Given the description of an element on the screen output the (x, y) to click on. 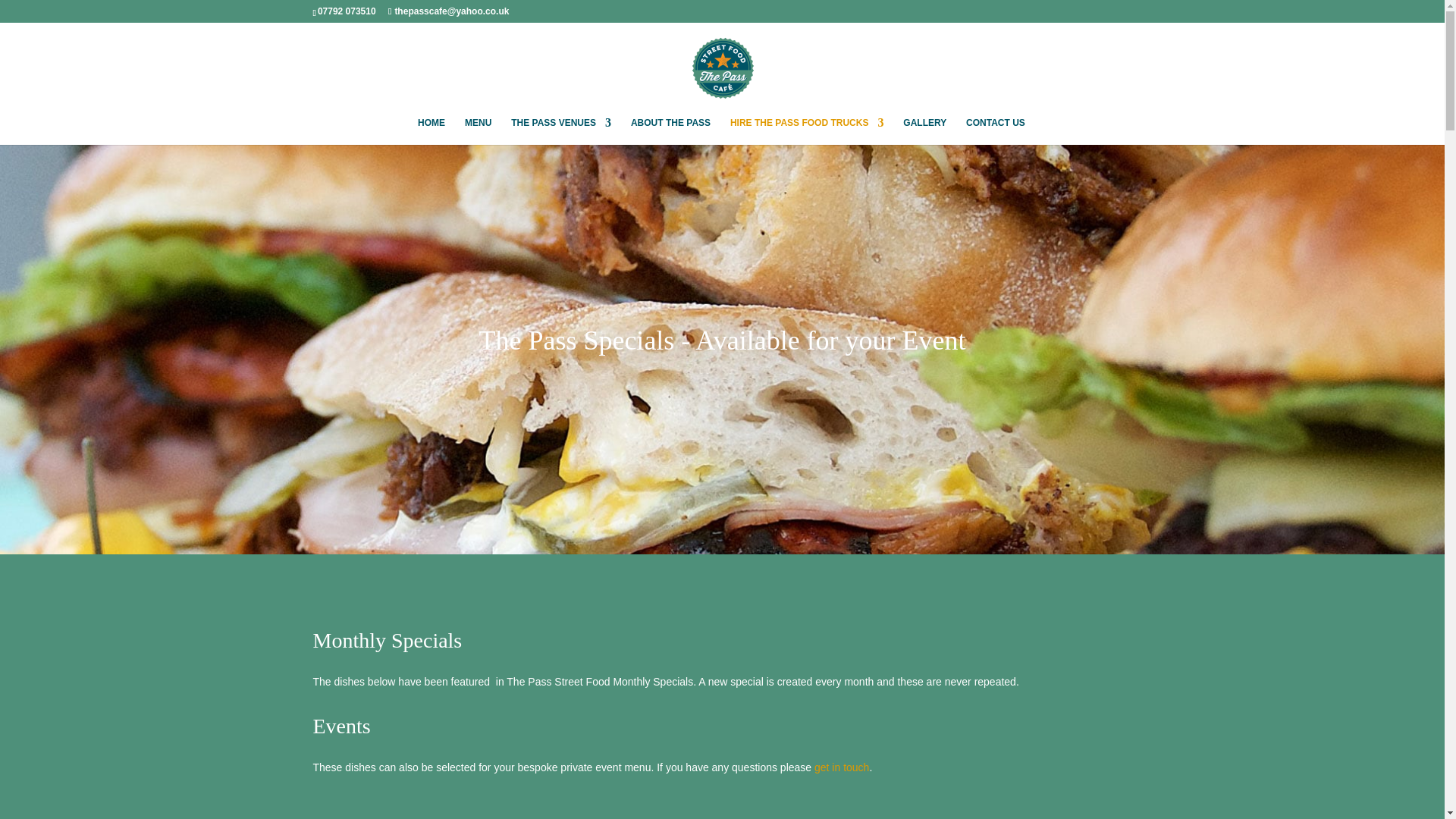
THE PASS VENUES (561, 130)
HIRE THE PASS FOOD TRUCKS (806, 130)
GALLERY (924, 130)
CONTACT US (995, 130)
MENU (478, 130)
HOME (431, 130)
get in touch (841, 767)
ABOUT THE PASS (670, 130)
